Given the description of an element on the screen output the (x, y) to click on. 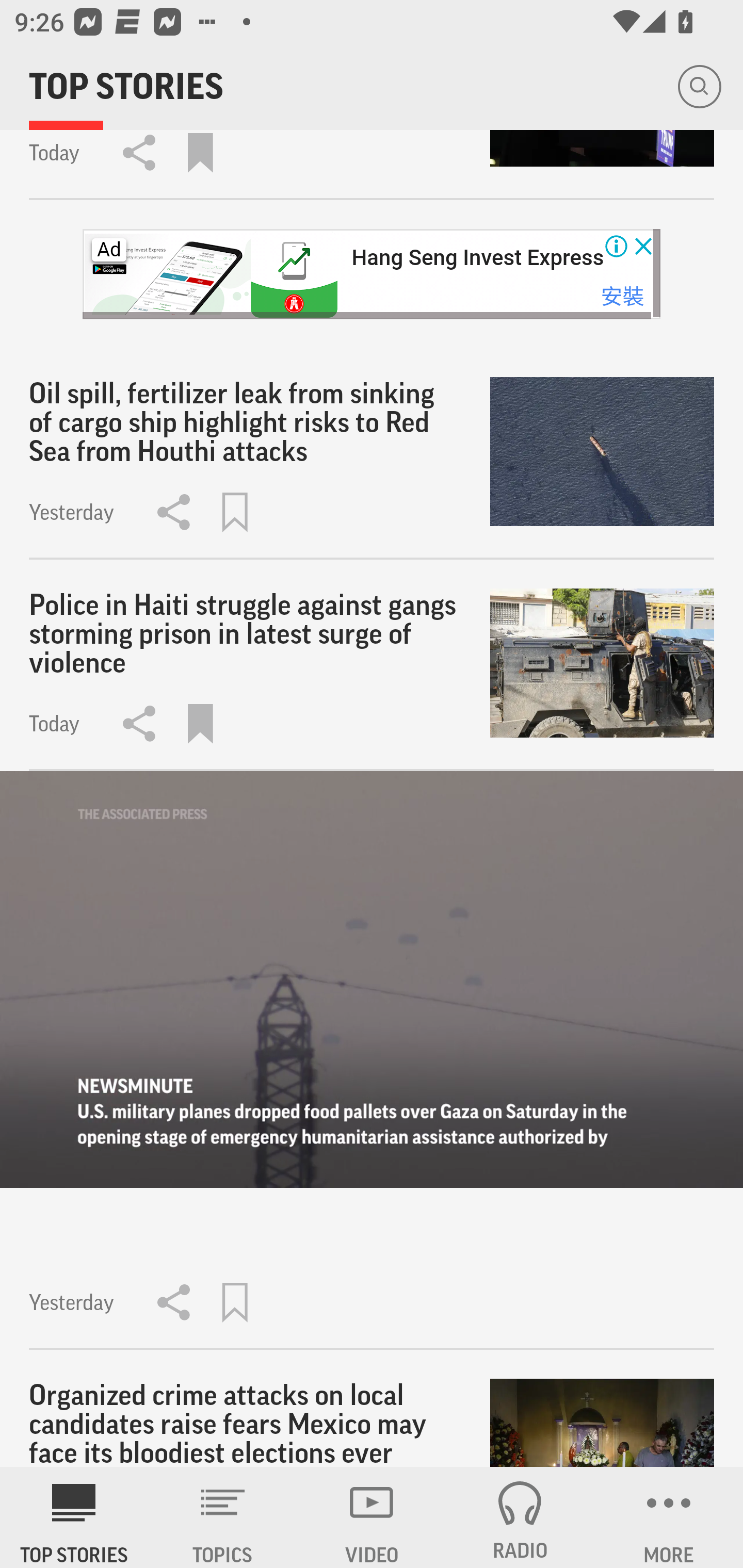
Hang Seng Invest Express (476, 257)
安裝 (621, 296)
toggle controls Yesterday (371, 1060)
toggle controls (371, 979)
AP News TOP STORIES (74, 1517)
TOPICS (222, 1517)
VIDEO (371, 1517)
RADIO (519, 1517)
MORE (668, 1517)
